Given the description of an element on the screen output the (x, y) to click on. 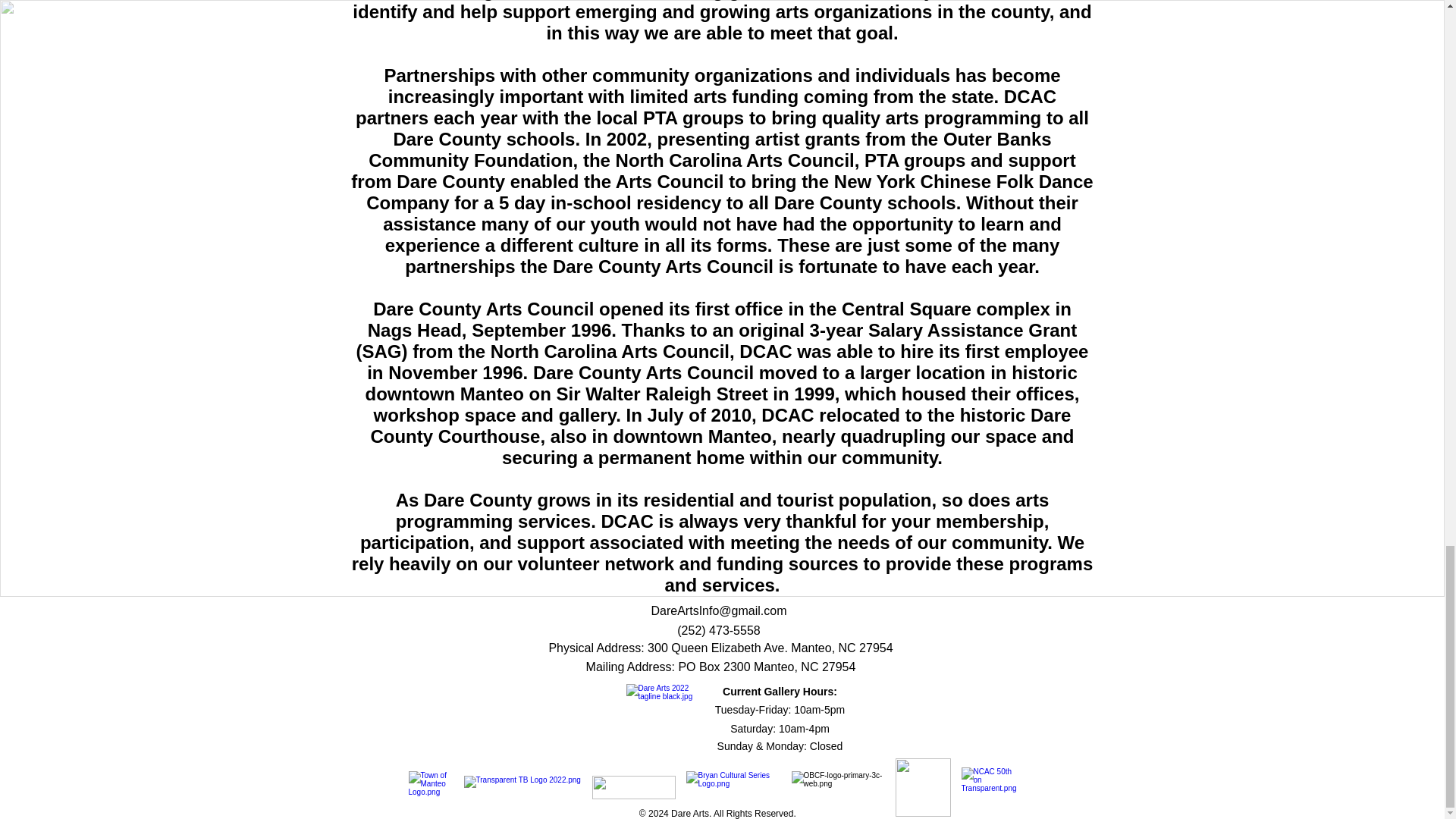
DCAC-Logo BLK in CYMK at 300 dpi.jpg (665, 722)
